Given the description of an element on the screen output the (x, y) to click on. 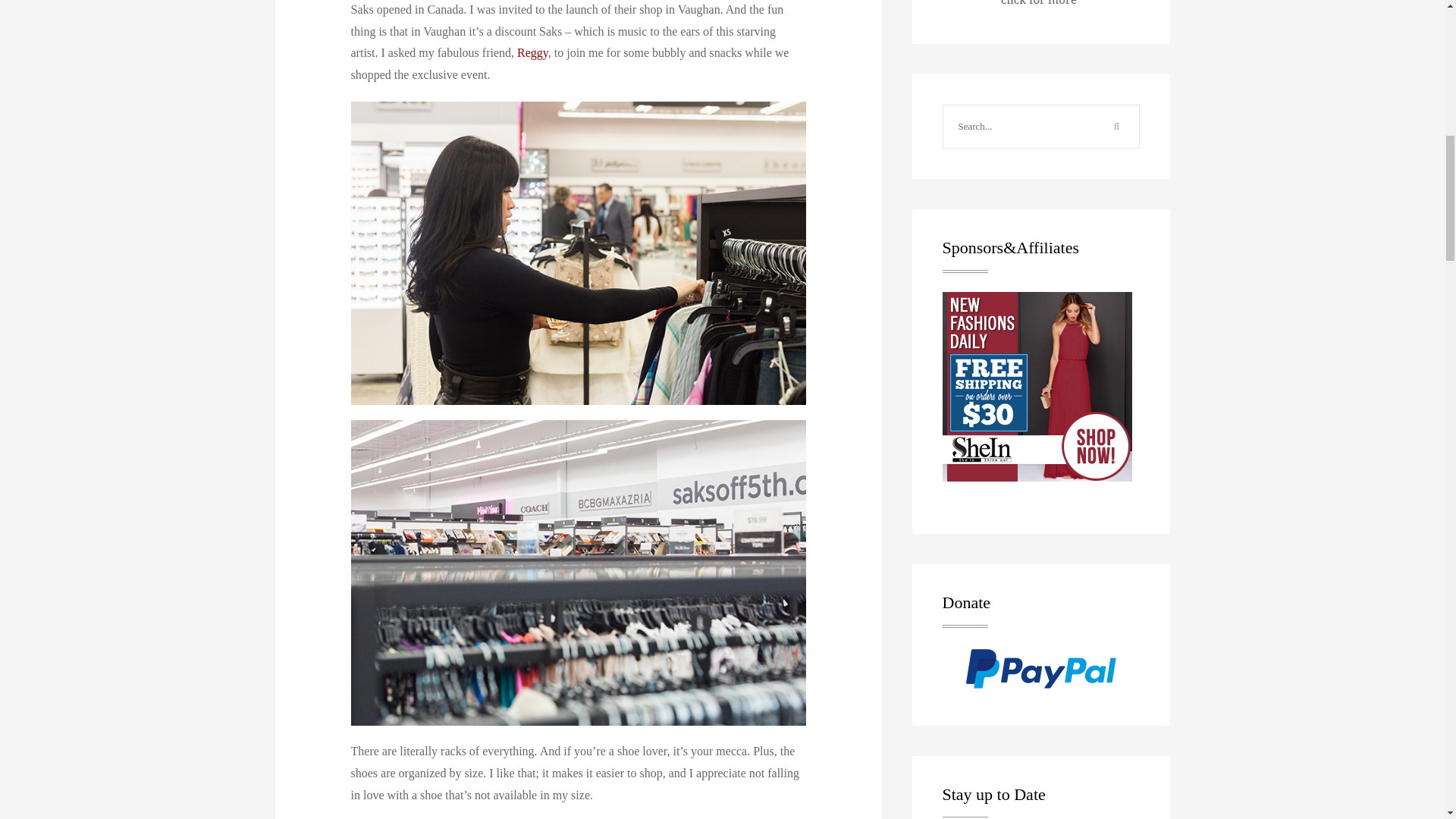
Reggy (532, 51)
Search (1116, 126)
Search... (1018, 126)
